Given the description of an element on the screen output the (x, y) to click on. 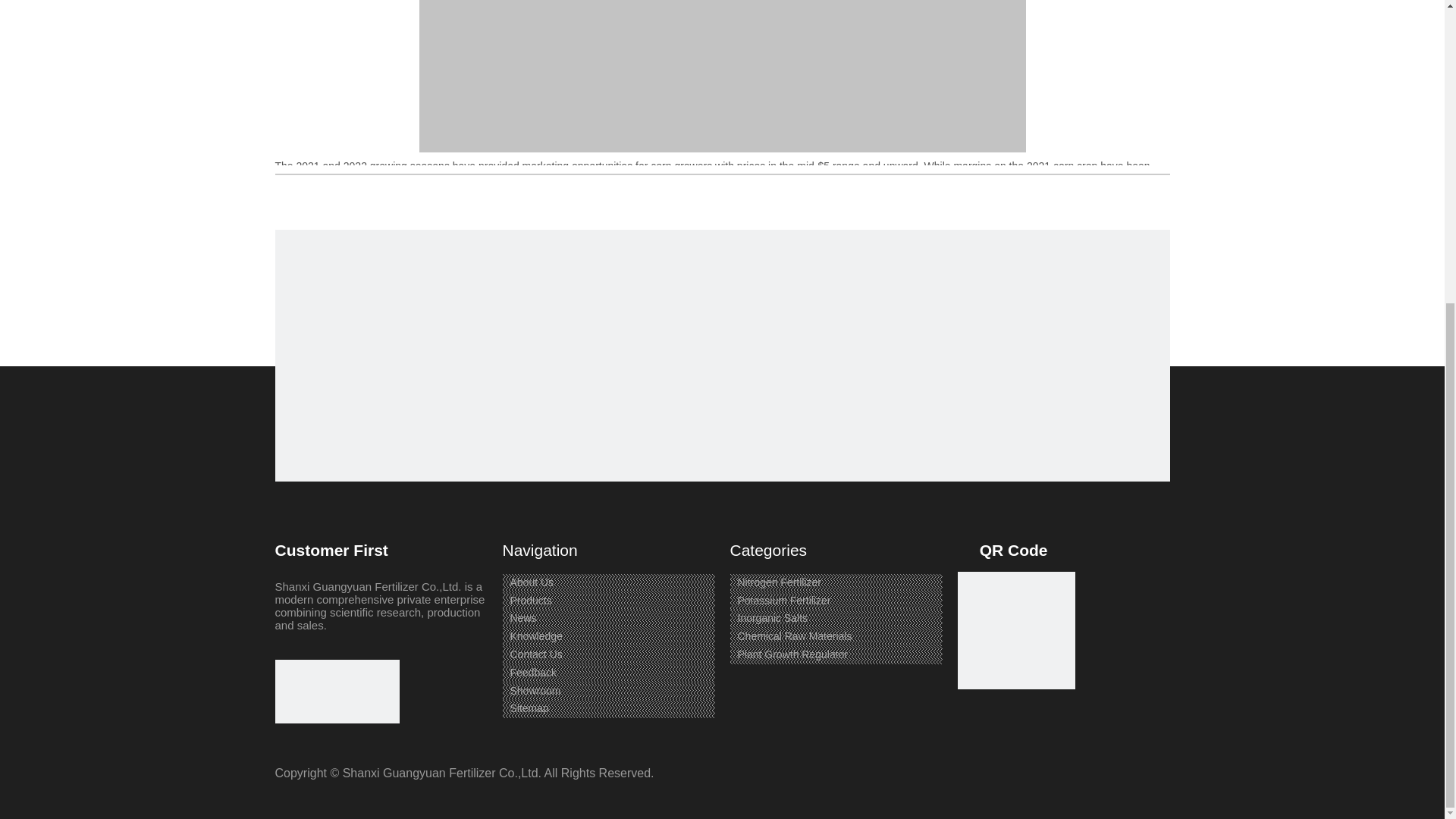
Contact Us (535, 654)
Plant Growth Regulator (791, 654)
Nitrogen Fertilizer (778, 582)
Inorganic Salts (772, 617)
Potassium Fertilizer (782, 600)
Contact Us (535, 654)
Sitemap (528, 707)
Showroom (534, 690)
Sitemap (528, 707)
Potassium Fertilizer (782, 600)
